Given the description of an element on the screen output the (x, y) to click on. 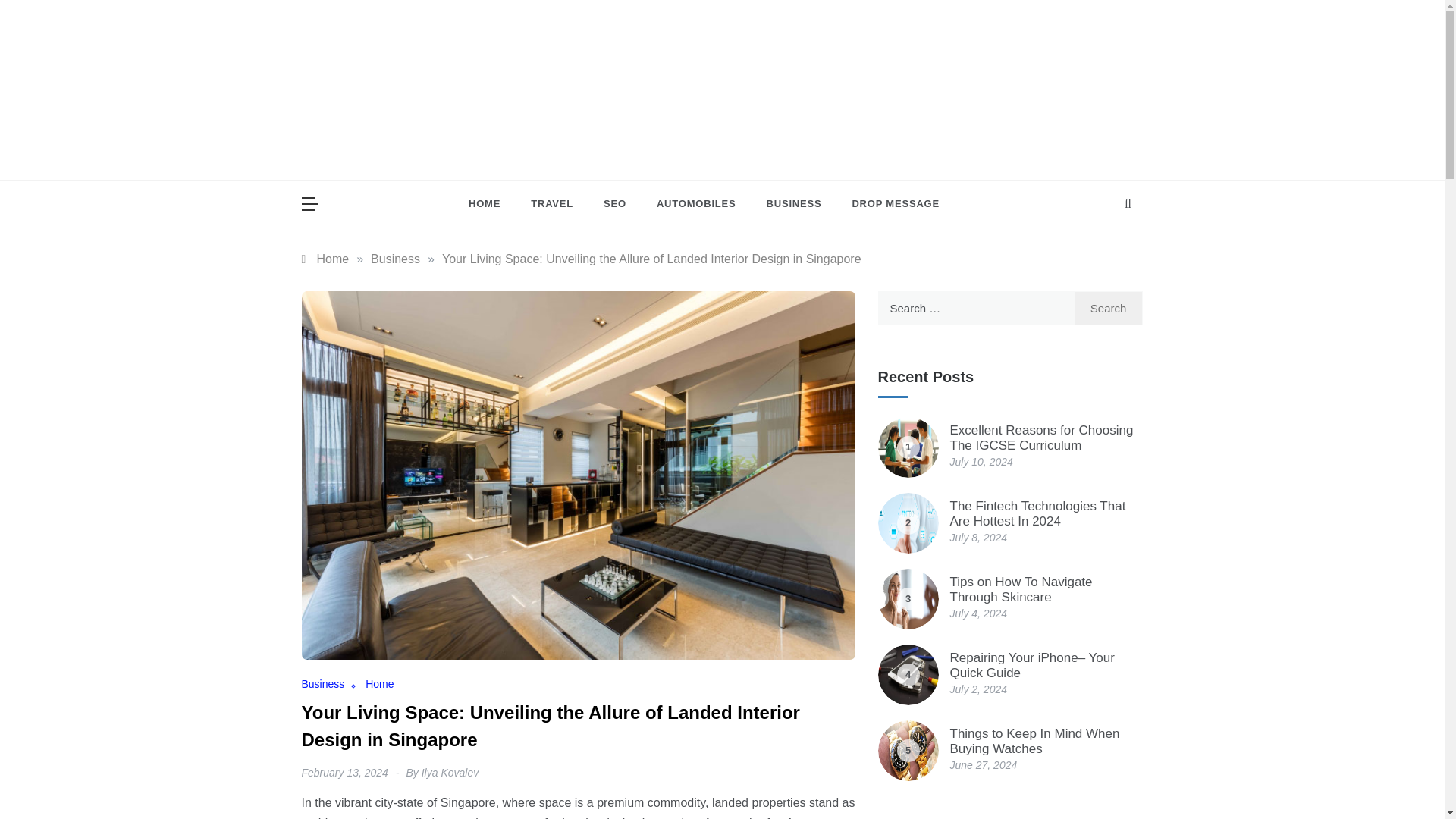
DROP MESSAGE (887, 203)
Office Com Setupo (620, 165)
Ilya Kovalev (450, 772)
AUTOMOBILES (696, 203)
Business (331, 684)
BUSINESS (794, 203)
February 13, 2024 (344, 772)
Home (325, 258)
Search (1108, 308)
Home (379, 684)
SEO (615, 203)
Search (1108, 308)
TRAVEL (551, 203)
Search (1108, 308)
